Given the description of an element on the screen output the (x, y) to click on. 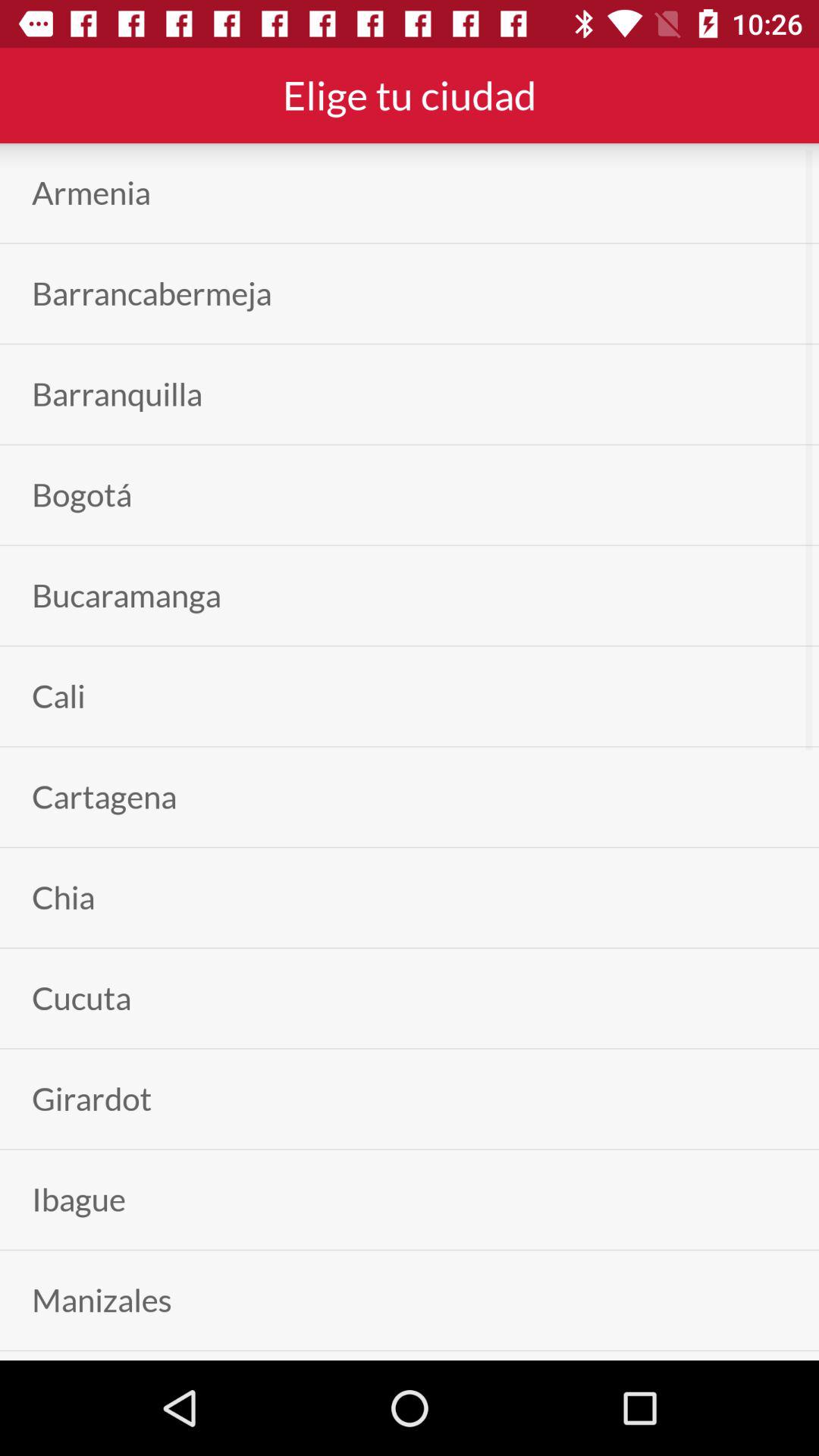
select the icon below the cucuta app (91, 1099)
